Given the description of an element on the screen output the (x, y) to click on. 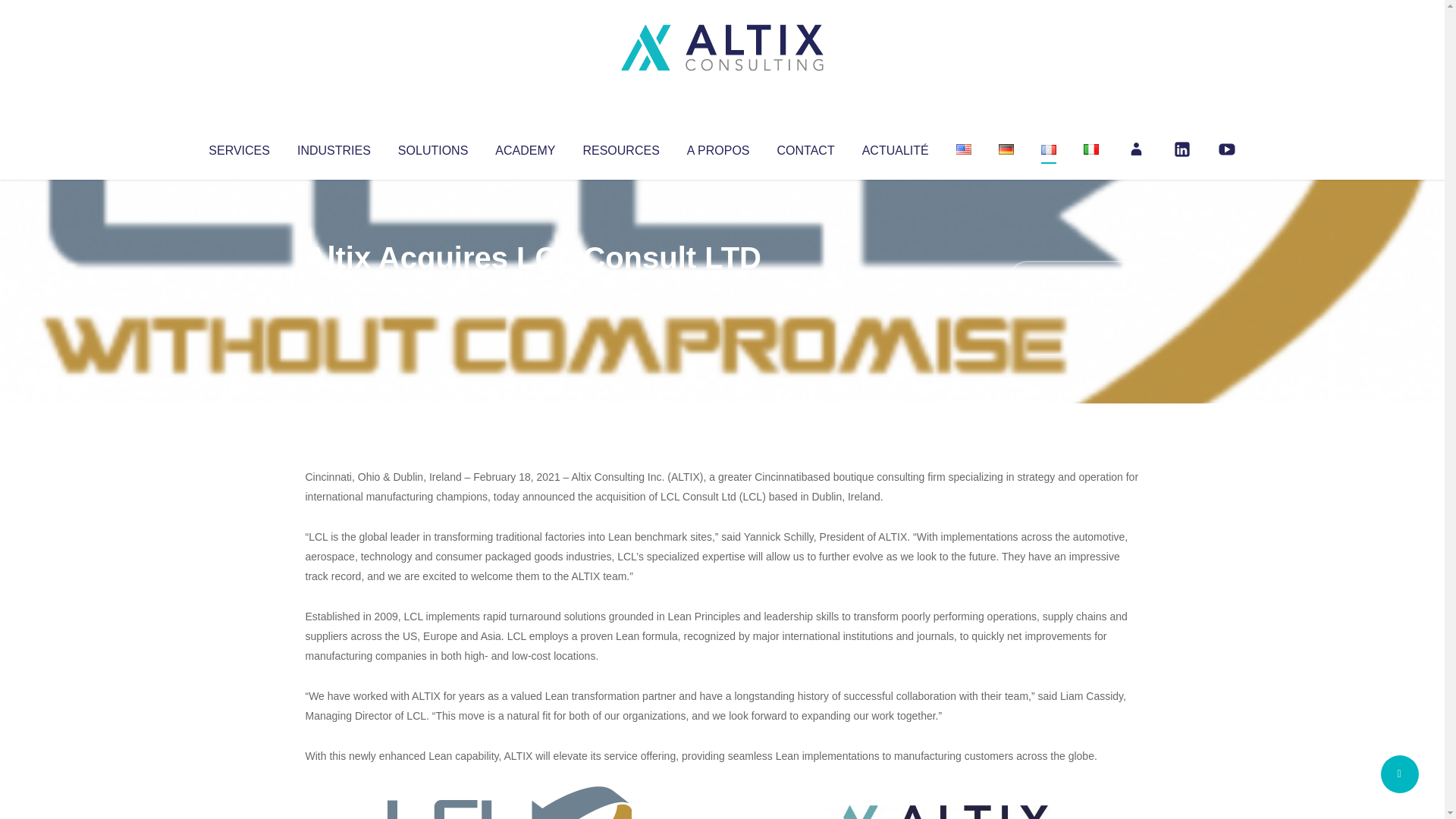
RESOURCES (620, 146)
A PROPOS (718, 146)
SERVICES (238, 146)
Articles par Altix (333, 287)
SOLUTIONS (432, 146)
INDUSTRIES (334, 146)
Altix (333, 287)
ACADEMY (524, 146)
Uncategorized (530, 287)
No Comments (1073, 278)
